Given the description of an element on the screen output the (x, y) to click on. 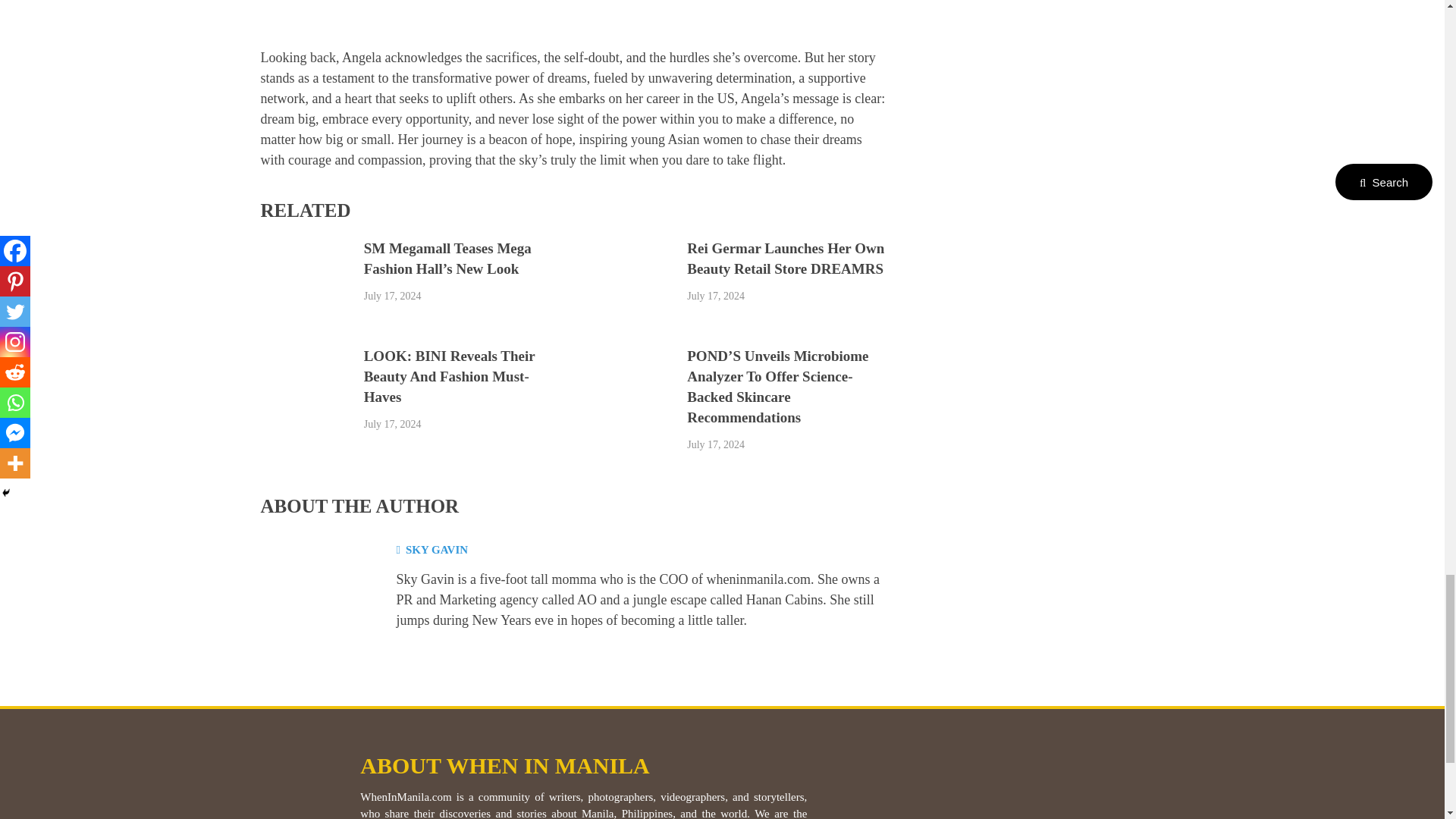
SM Megamall Teases Mega Fashion Hall's New Look 4 (305, 286)
